Given the description of an element on the screen output the (x, y) to click on. 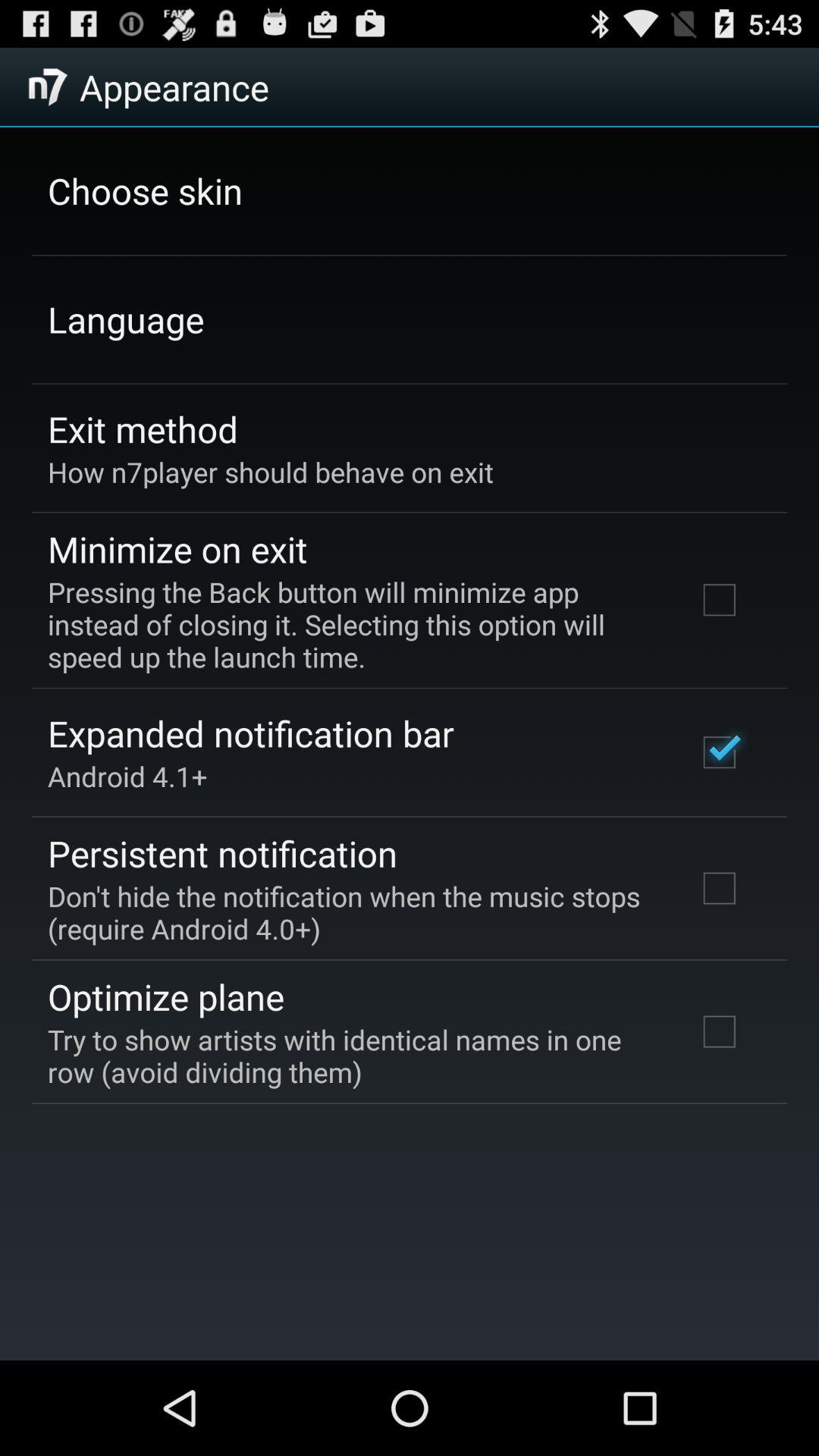
jump until the don t hide app (351, 912)
